Given the description of an element on the screen output the (x, y) to click on. 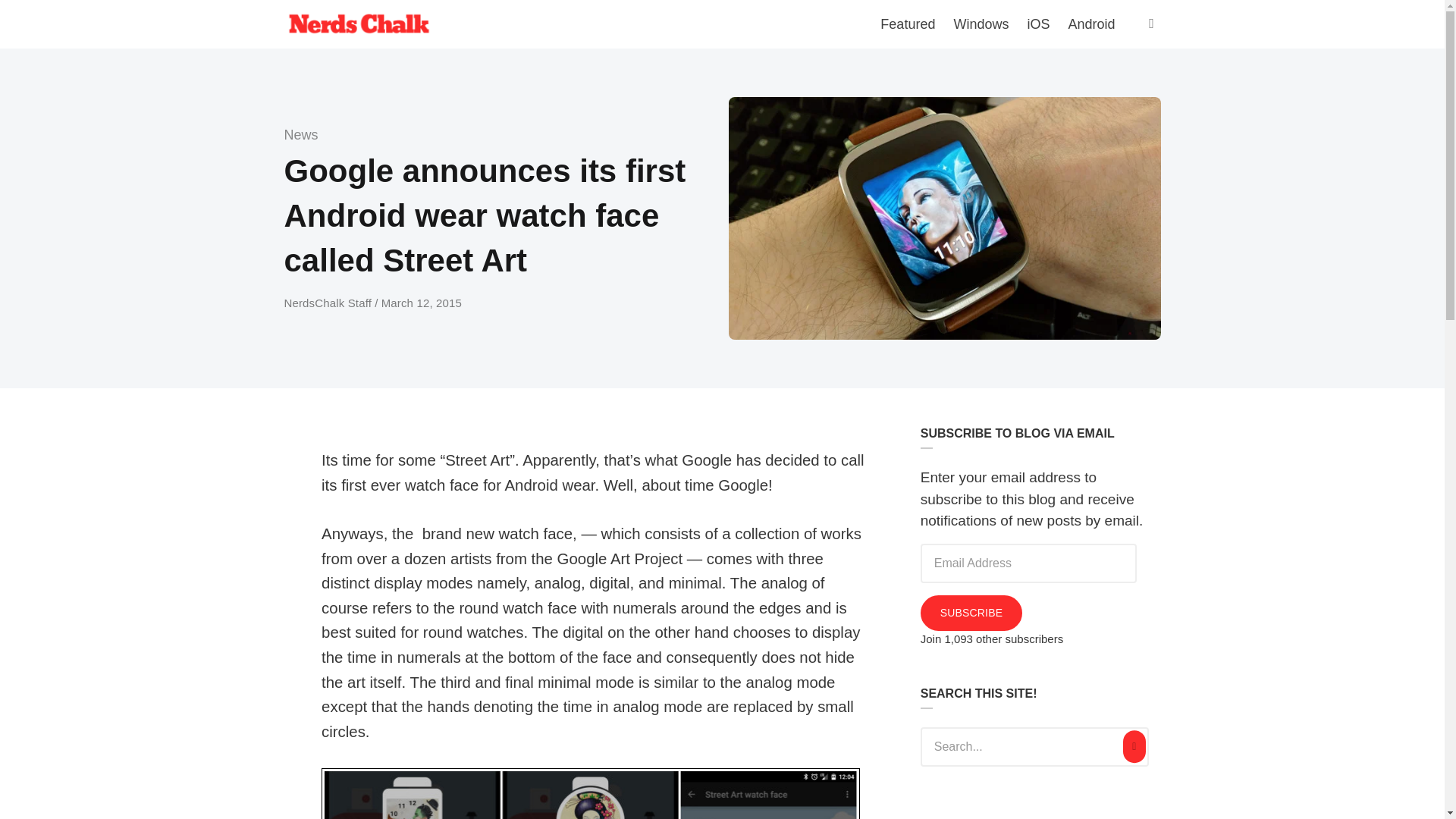
Android (1091, 24)
Featured (906, 24)
Windows (980, 24)
NerdsChalk Staff (328, 302)
News (300, 134)
SUBSCRIBE (971, 613)
